Given the description of an element on the screen output the (x, y) to click on. 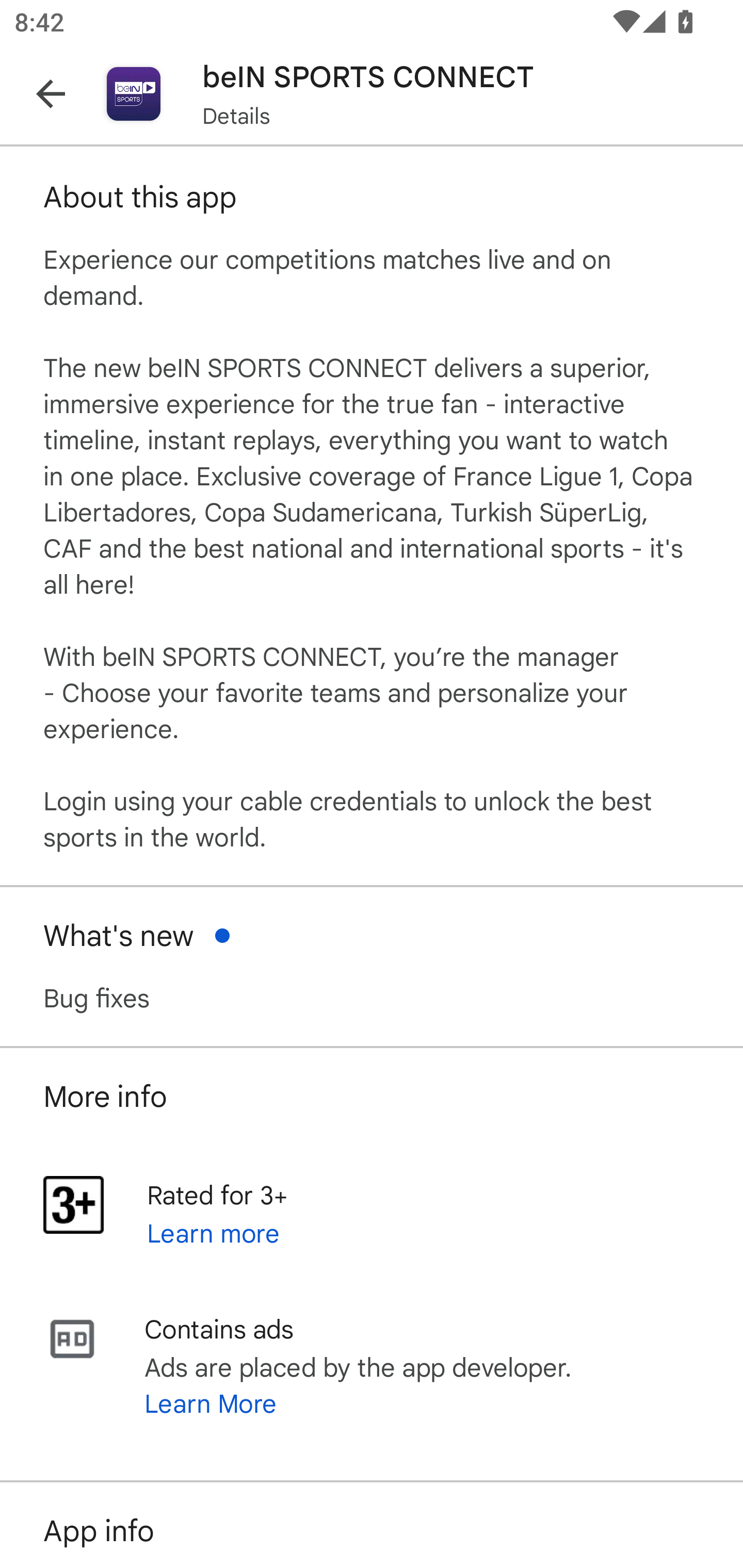
Navigate up (50, 93)
